Given the description of an element on the screen output the (x, y) to click on. 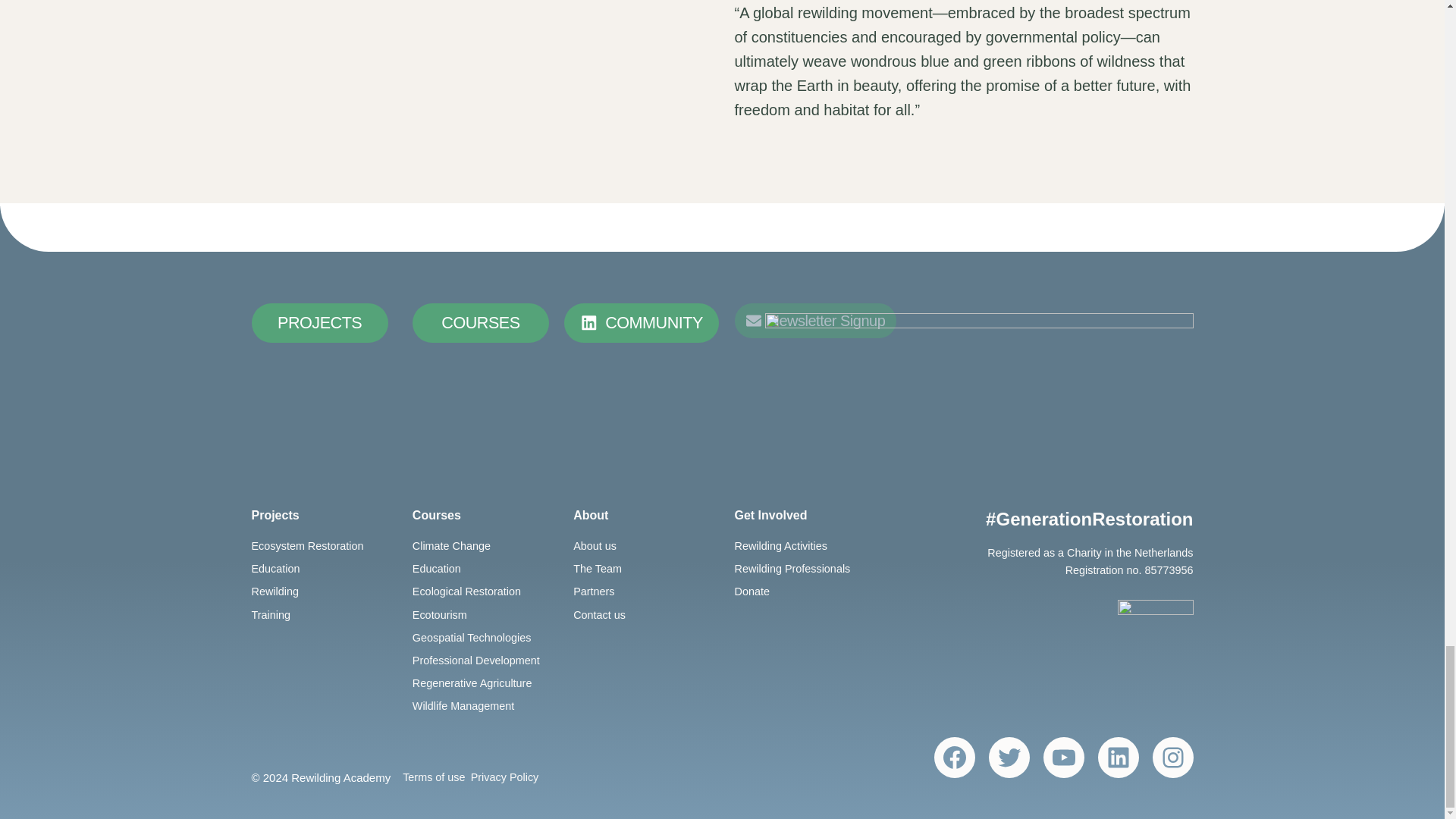
COURSES (480, 323)
PROJECTS (319, 323)
COMMUNITY (641, 323)
